Given the description of an element on the screen output the (x, y) to click on. 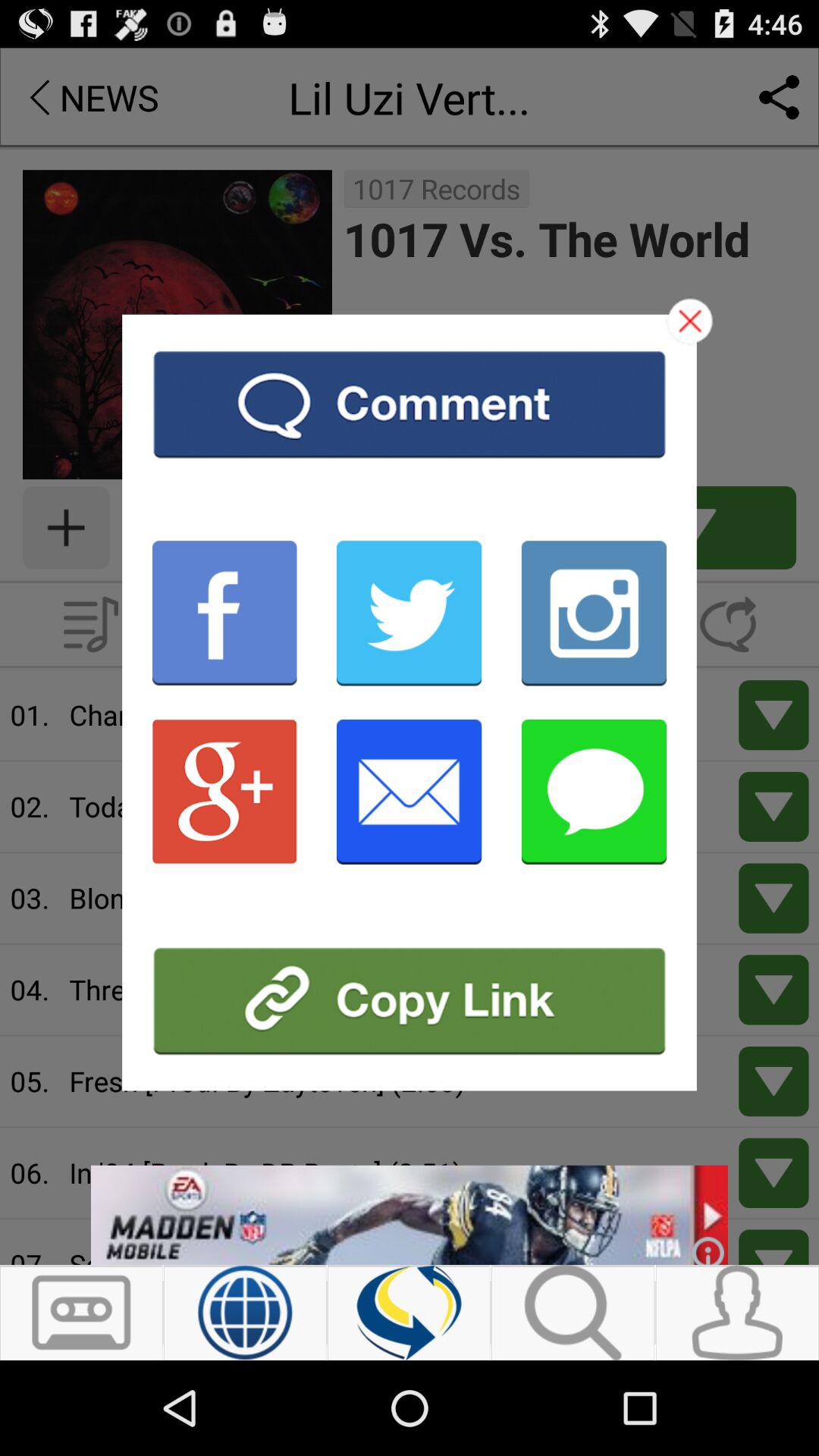
go to facebook to comment (409, 403)
